Given the description of an element on the screen output the (x, y) to click on. 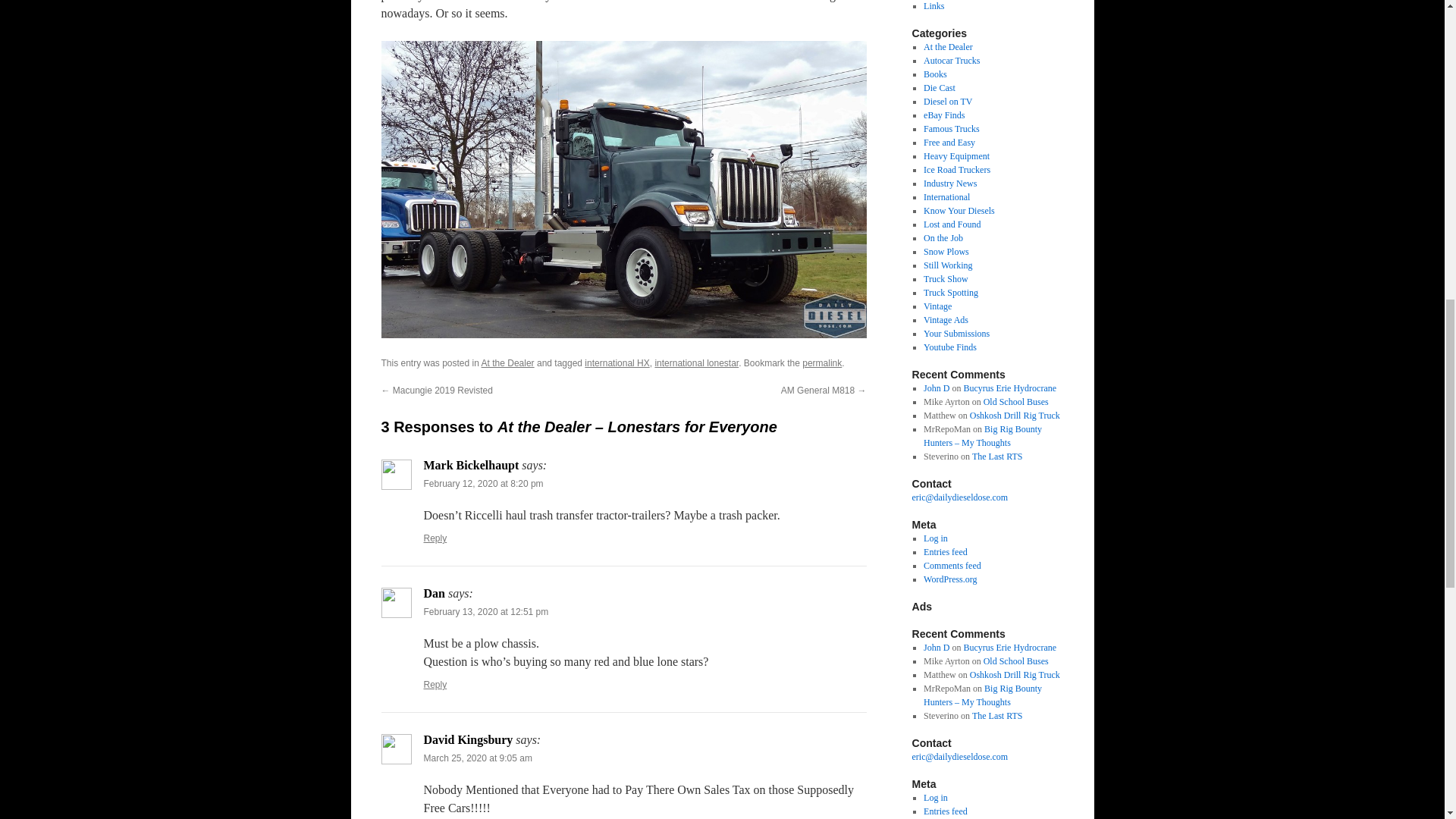
At the Dealer (507, 362)
international HX (617, 362)
Reply (434, 684)
Reply (434, 538)
permalink (821, 362)
international lonestar (695, 362)
March 25, 2020 at 9:05 am (477, 757)
February 13, 2020 at 12:51 pm (485, 611)
February 12, 2020 at 8:20 pm (483, 483)
